Given the description of an element on the screen output the (x, y) to click on. 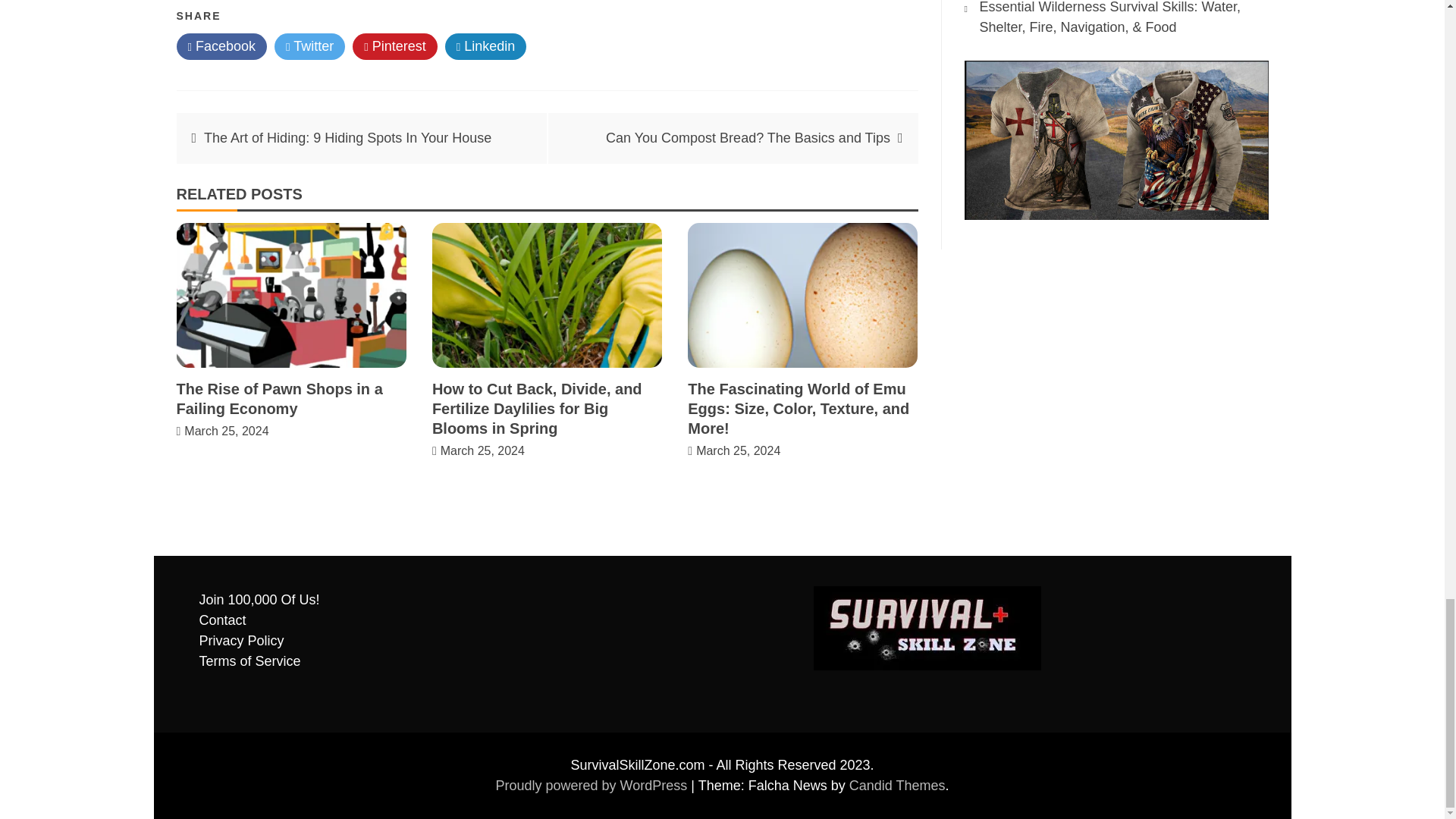
March 25, 2024 (737, 450)
March 25, 2024 (482, 450)
Facebook (221, 46)
Linkedin (486, 46)
Twitter (310, 46)
The Art of Hiding: 9 Hiding Spots In Your House (347, 137)
Can You Compost Bread? The Basics and Tips (747, 137)
The Rise of Pawn Shops in a Failing Economy (278, 398)
March 25, 2024 (225, 431)
Pinterest (395, 46)
